Given the description of an element on the screen output the (x, y) to click on. 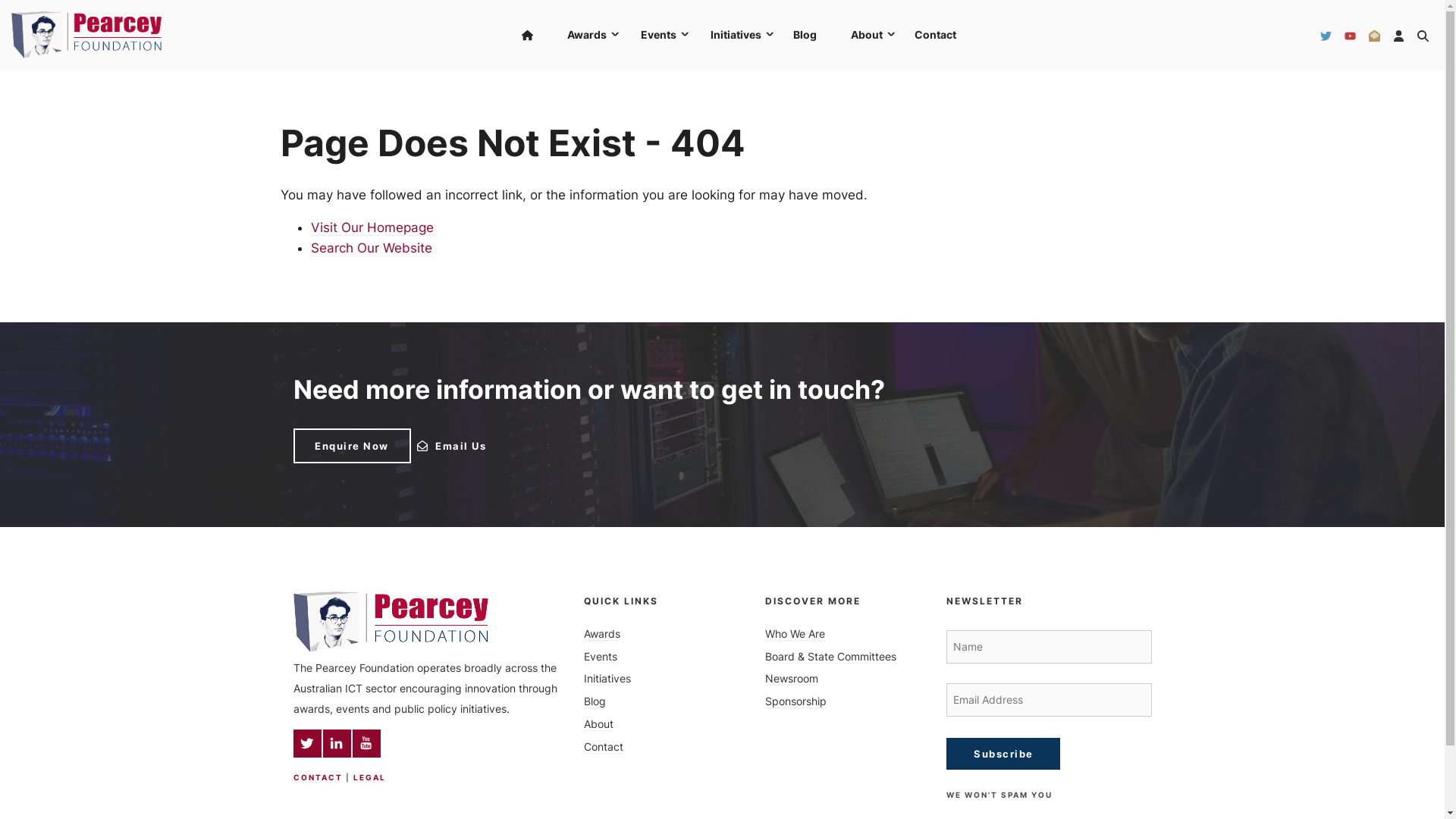
Blog Element type: text (804, 34)
Contact Element type: text (603, 746)
Email Us Element type: text (472, 445)
Awards Element type: text (585, 34)
Events Element type: text (657, 34)
Twitter Element type: hover (306, 743)
Sponsorship Element type: text (795, 700)
Search Our Website Element type: text (371, 247)
Youtube Element type: hover (365, 743)
Search Element type: hover (1422, 34)
Contact Element type: text (935, 34)
About Element type: text (598, 723)
LinkedIn Element type: hover (337, 743)
LEGAL Element type: text (369, 776)
Blog Element type: text (594, 700)
Newsroom Element type: text (791, 677)
YouTube Element type: hover (1349, 34)
Enquire Now Element type: text (351, 445)
Board & State Committees Element type: text (830, 655)
CONTACT Element type: text (317, 776)
About Element type: text (865, 34)
Events Element type: text (600, 655)
Email Element type: hover (1374, 34)
Initiatives Element type: text (734, 34)
Who We Are Element type: text (795, 633)
Awards Element type: text (601, 633)
Subscribe Element type: text (1003, 753)
Profile Element type: hover (1398, 34)
Initiatives Element type: text (606, 677)
Twitter Element type: hover (1325, 34)
Visit Our Homepage Element type: text (371, 227)
